Given the description of an element on the screen output the (x, y) to click on. 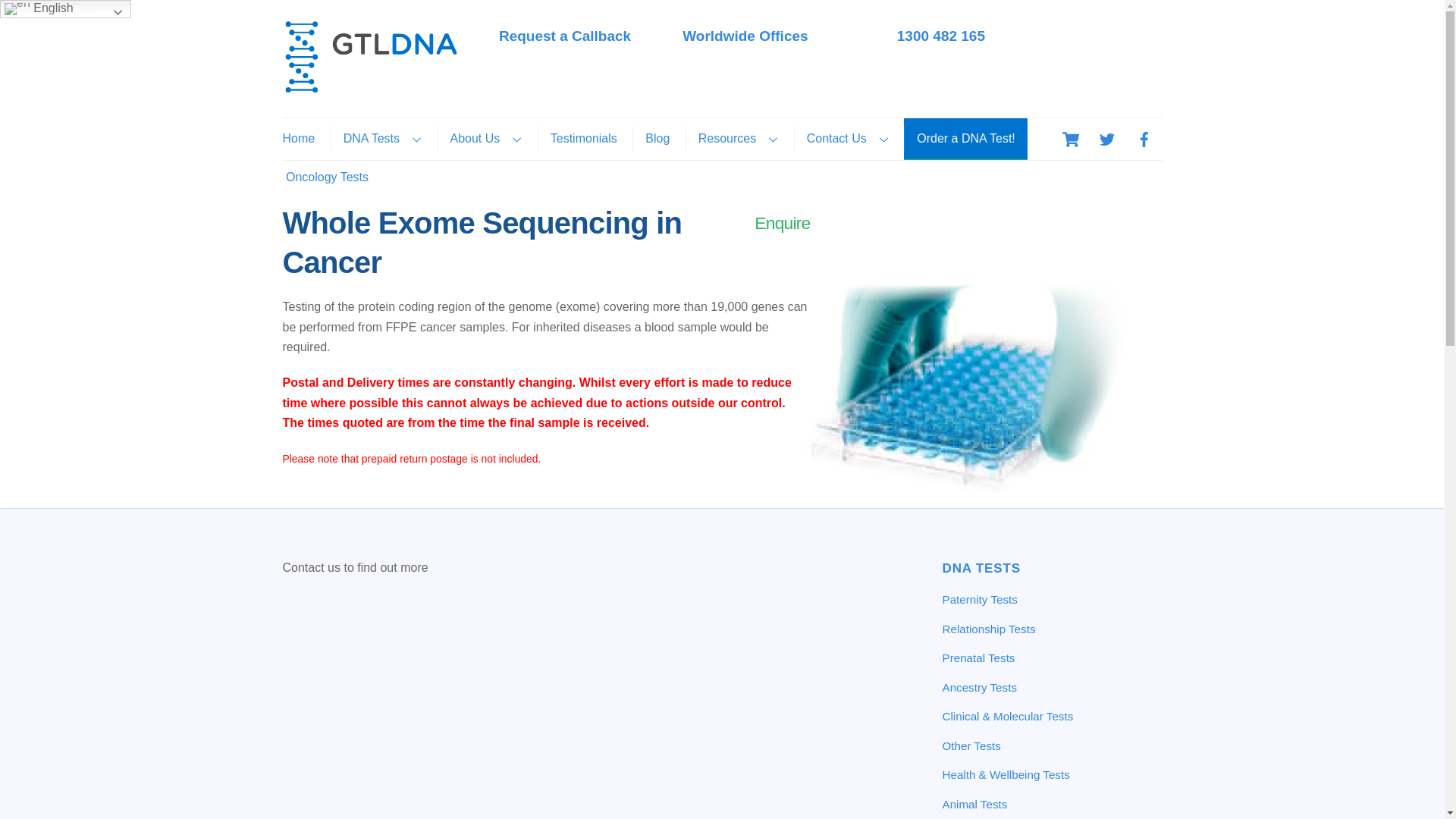
gtldna-logo-dark-CROPPED (370, 56)
DNA Tests (381, 138)
Cart (1070, 139)
GTLDNA AU (370, 86)
Home (304, 138)
